Given the description of an element on the screen output the (x, y) to click on. 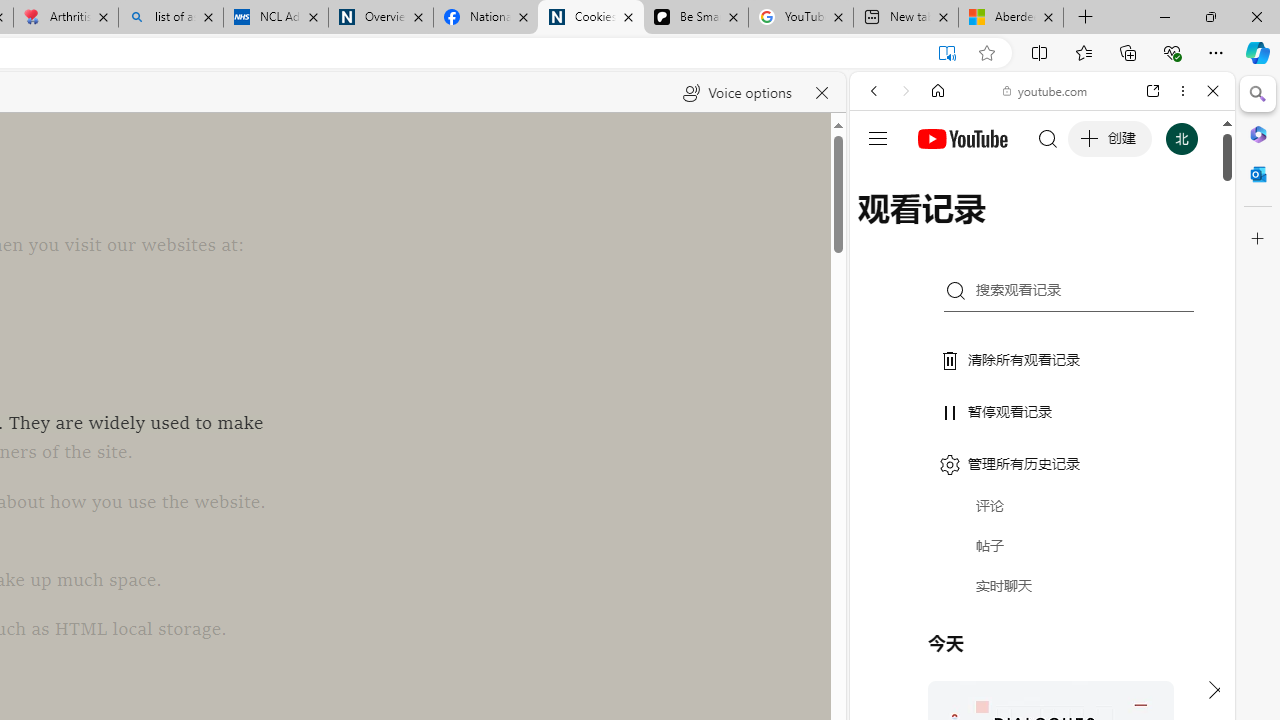
Voice options (737, 92)
Trailer #2 [HD] (1042, 592)
Search Filter, IMAGES (939, 228)
Web scope (882, 180)
youtube.com (1046, 90)
